Given the description of an element on the screen output the (x, y) to click on. 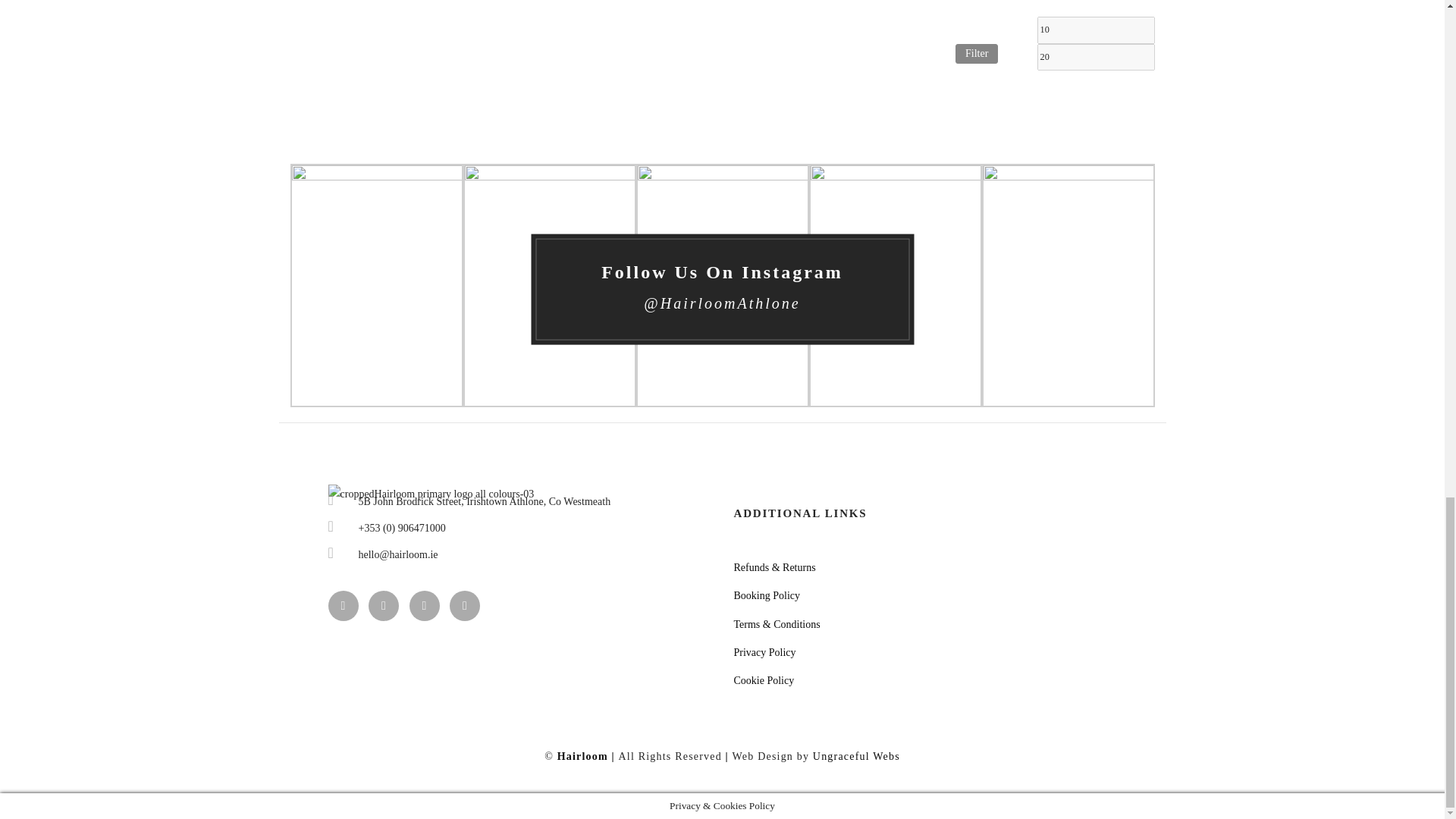
10 (1095, 29)
croppedHairloom primary logo all colours-03 (430, 493)
20 (1095, 57)
